Given the description of an element on the screen output the (x, y) to click on. 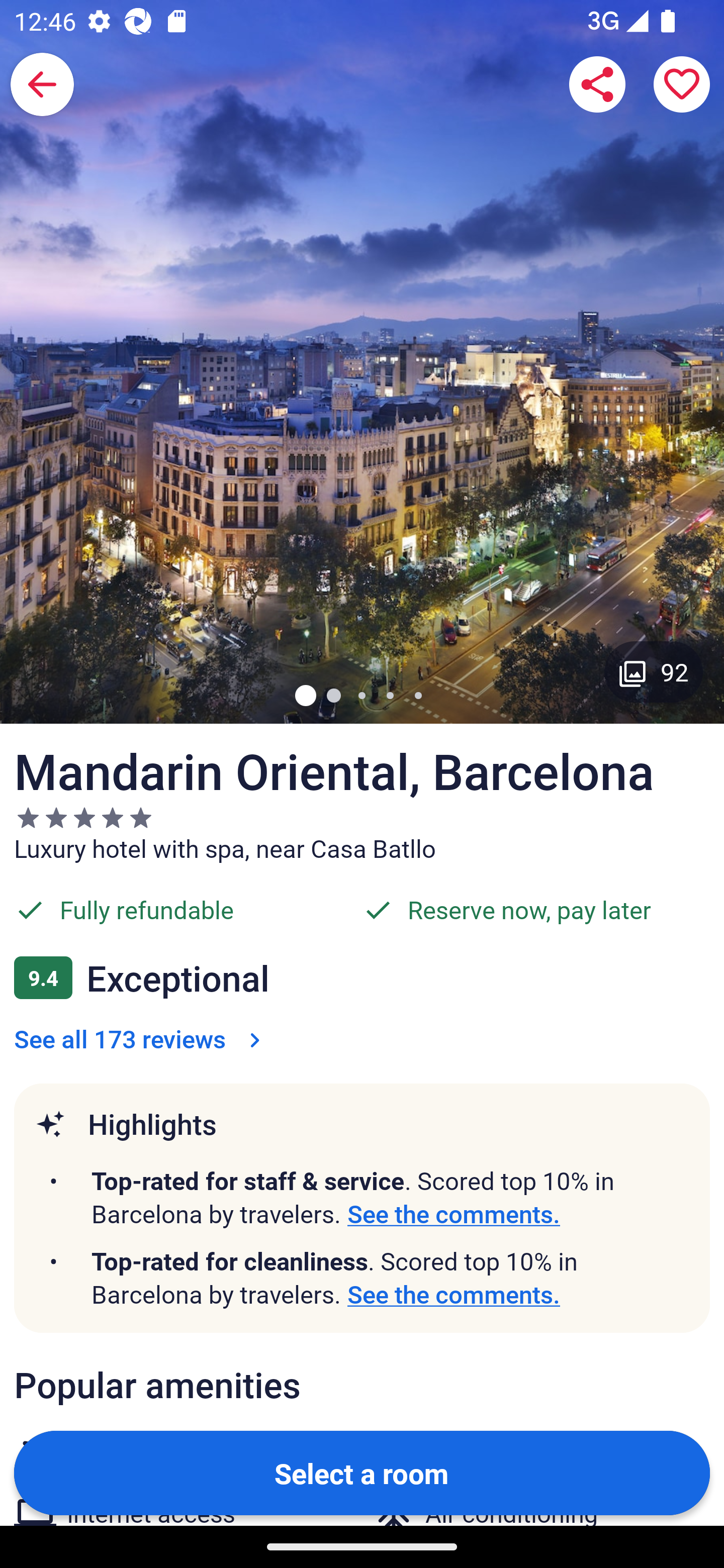
Back (42, 84)
Save property to a trip (681, 84)
Share Mandarin Oriental, Barcelona (597, 84)
Gallery button with 92 images (653, 671)
See all 173 reviews See all 173 reviews Link (140, 1038)
Select a room Button Select a room (361, 1472)
